Given the description of an element on the screen output the (x, y) to click on. 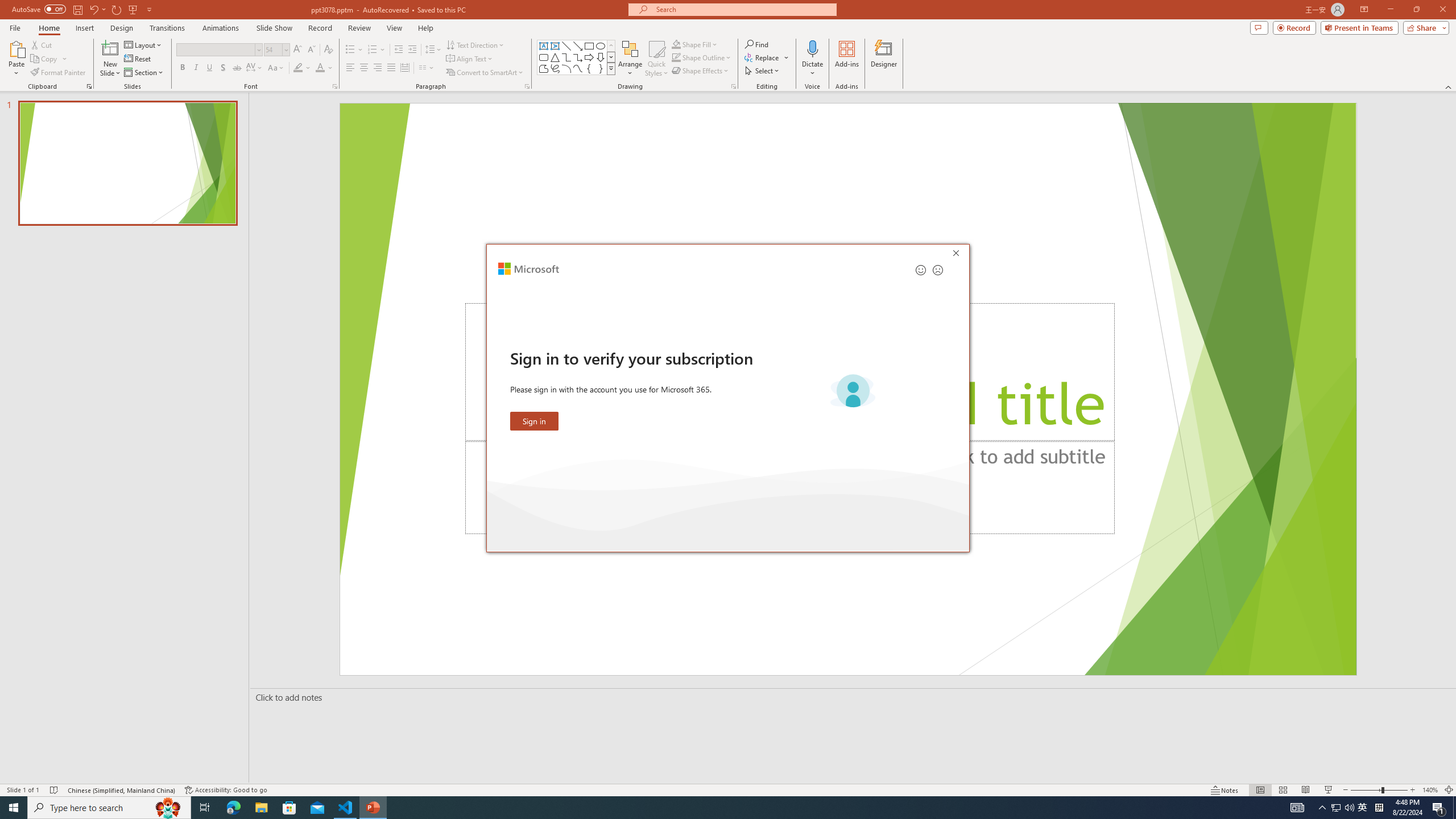
Connector: Elbow Arrow (577, 57)
Font Color Red (320, 67)
AutomationID: ShapesInsertGallery (576, 57)
Sign in (534, 420)
